Given the description of an element on the screen output the (x, y) to click on. 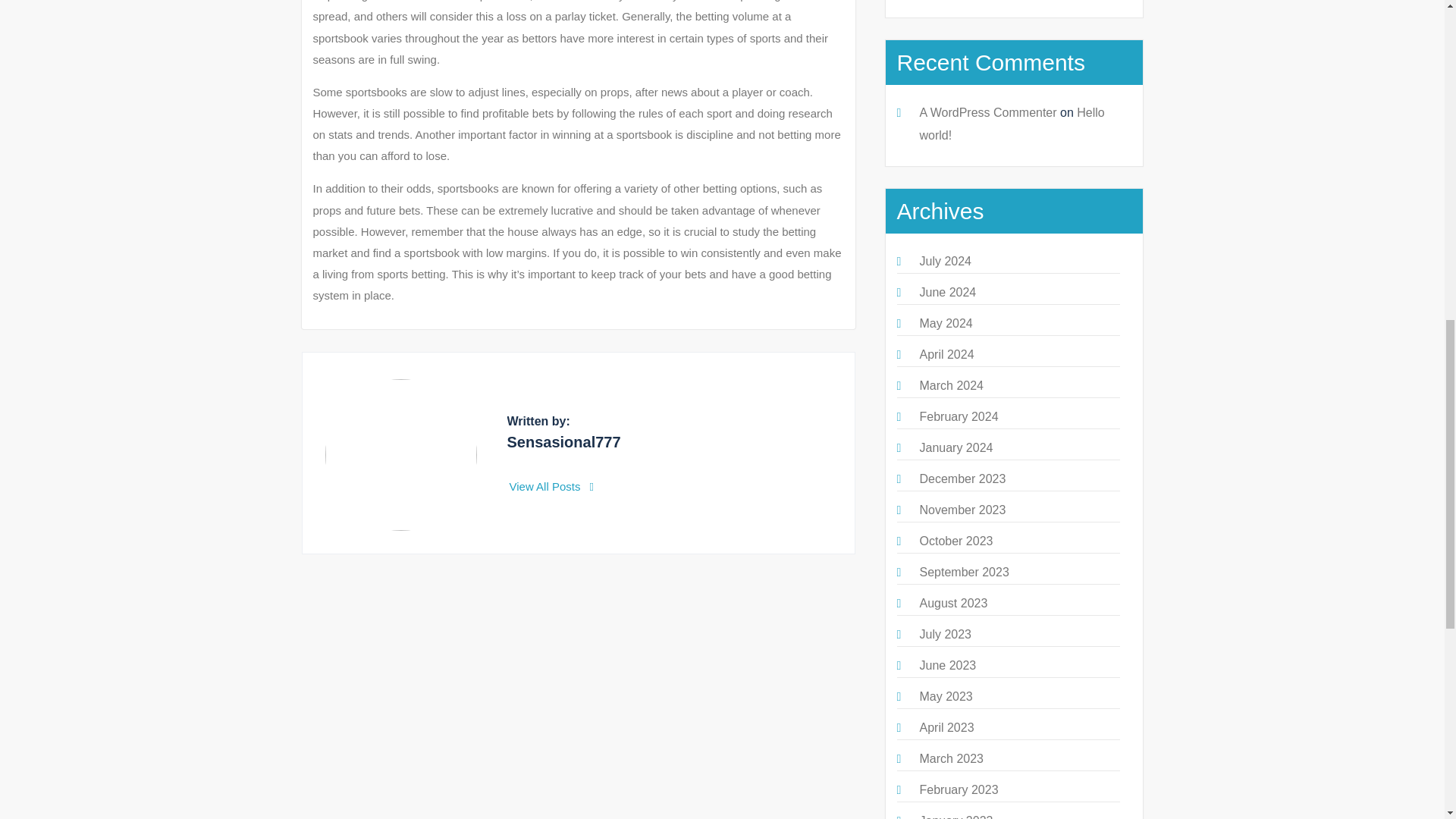
December 2023 (962, 478)
February 2024 (957, 416)
View All Posts (551, 486)
July 2023 (944, 634)
October 2023 (955, 540)
A WordPress Commenter (987, 112)
August 2023 (952, 603)
May 2023 (945, 696)
March 2023 (951, 758)
September 2023 (963, 571)
June 2023 (946, 665)
April 2024 (946, 354)
February 2023 (957, 789)
November 2023 (962, 509)
April 2023 (946, 727)
